Given the description of an element on the screen output the (x, y) to click on. 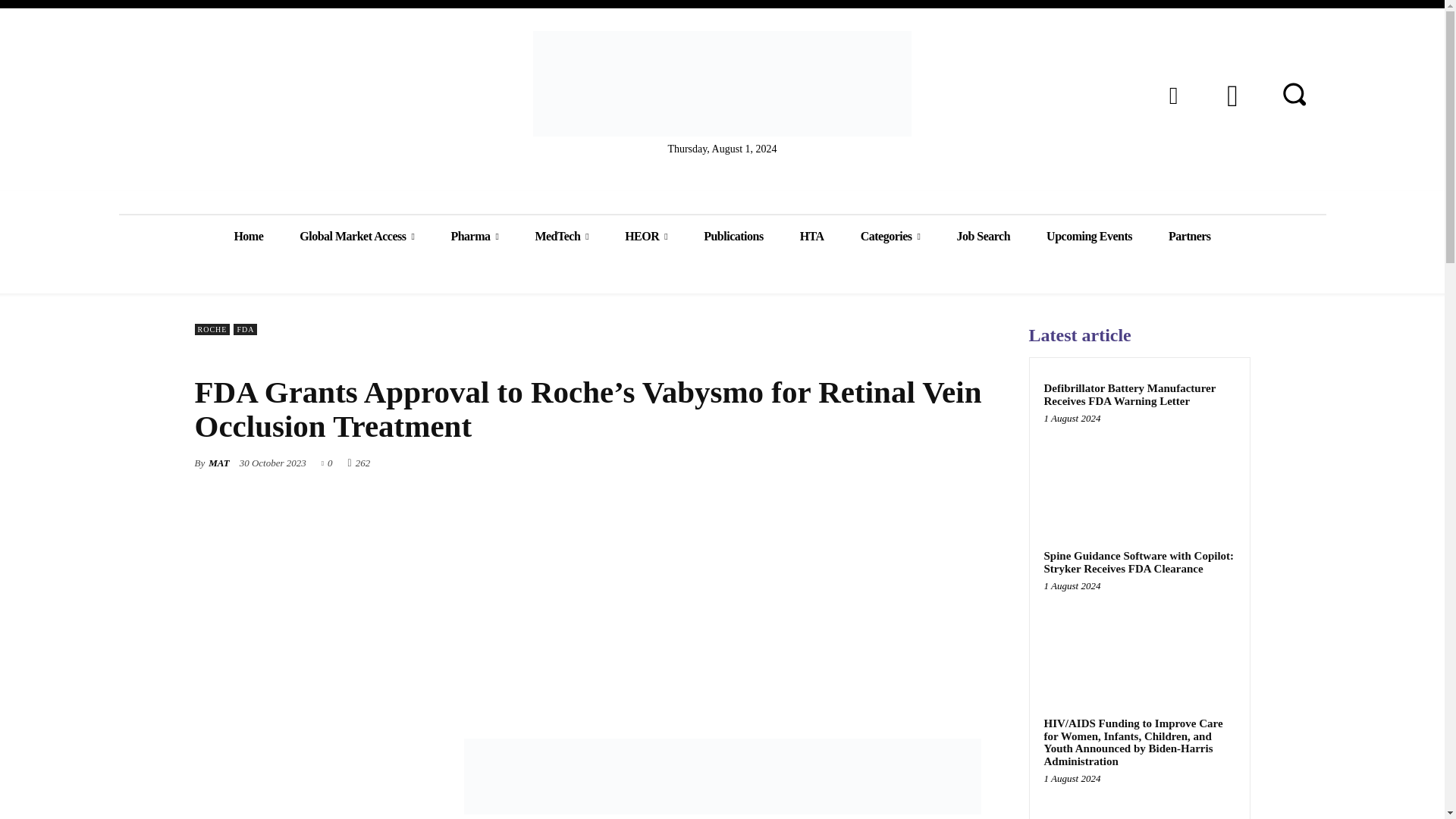
Linkedin (1172, 95)
Telegram (1232, 95)
